Given the description of an element on the screen output the (x, y) to click on. 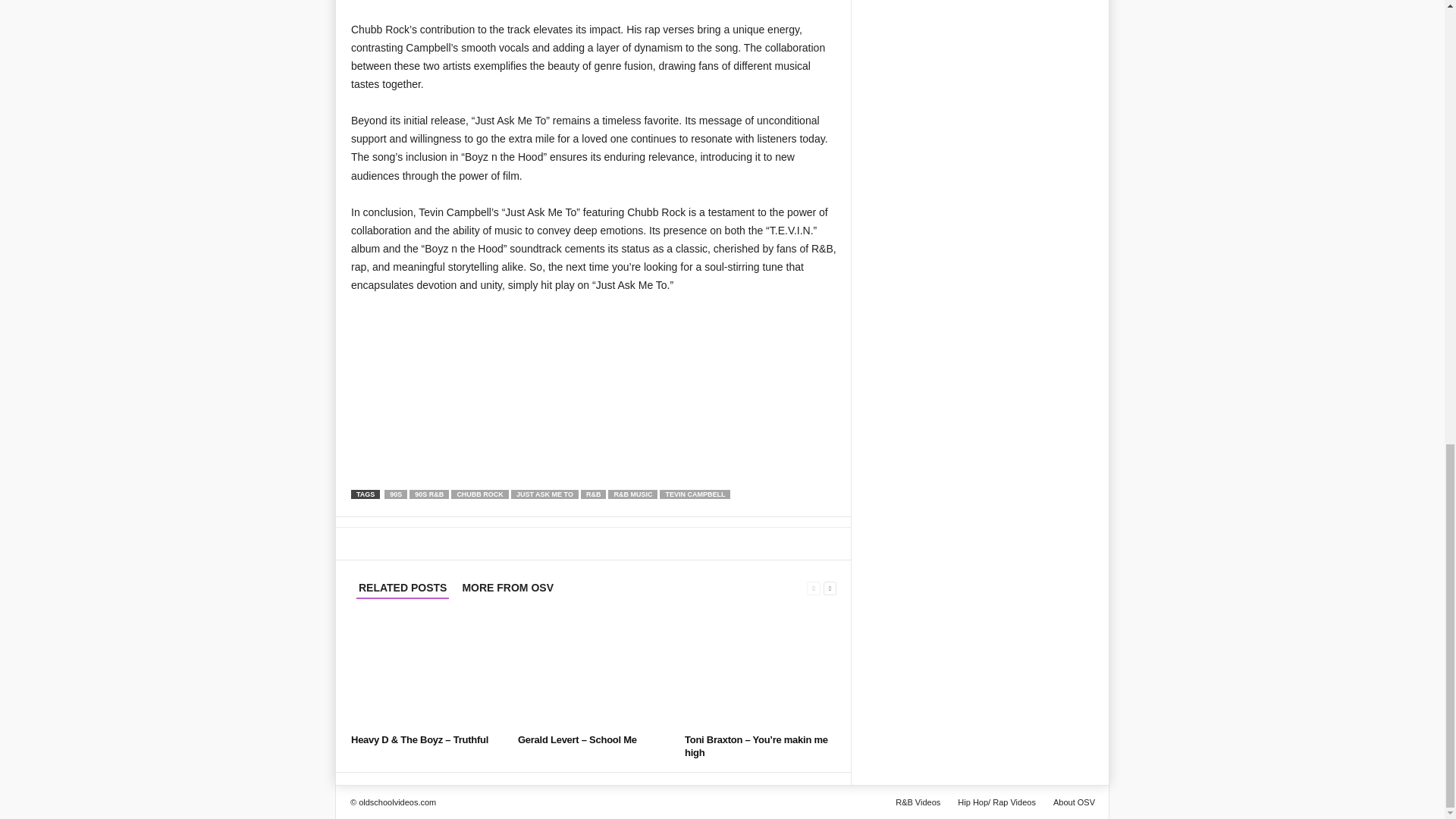
90S (395, 493)
JUST ASK ME TO (544, 493)
TEVIN CAMPBELL (694, 493)
MORE FROM OSV (508, 587)
CHUBB ROCK (479, 493)
RELATED POSTS (402, 588)
